Given the description of an element on the screen output the (x, y) to click on. 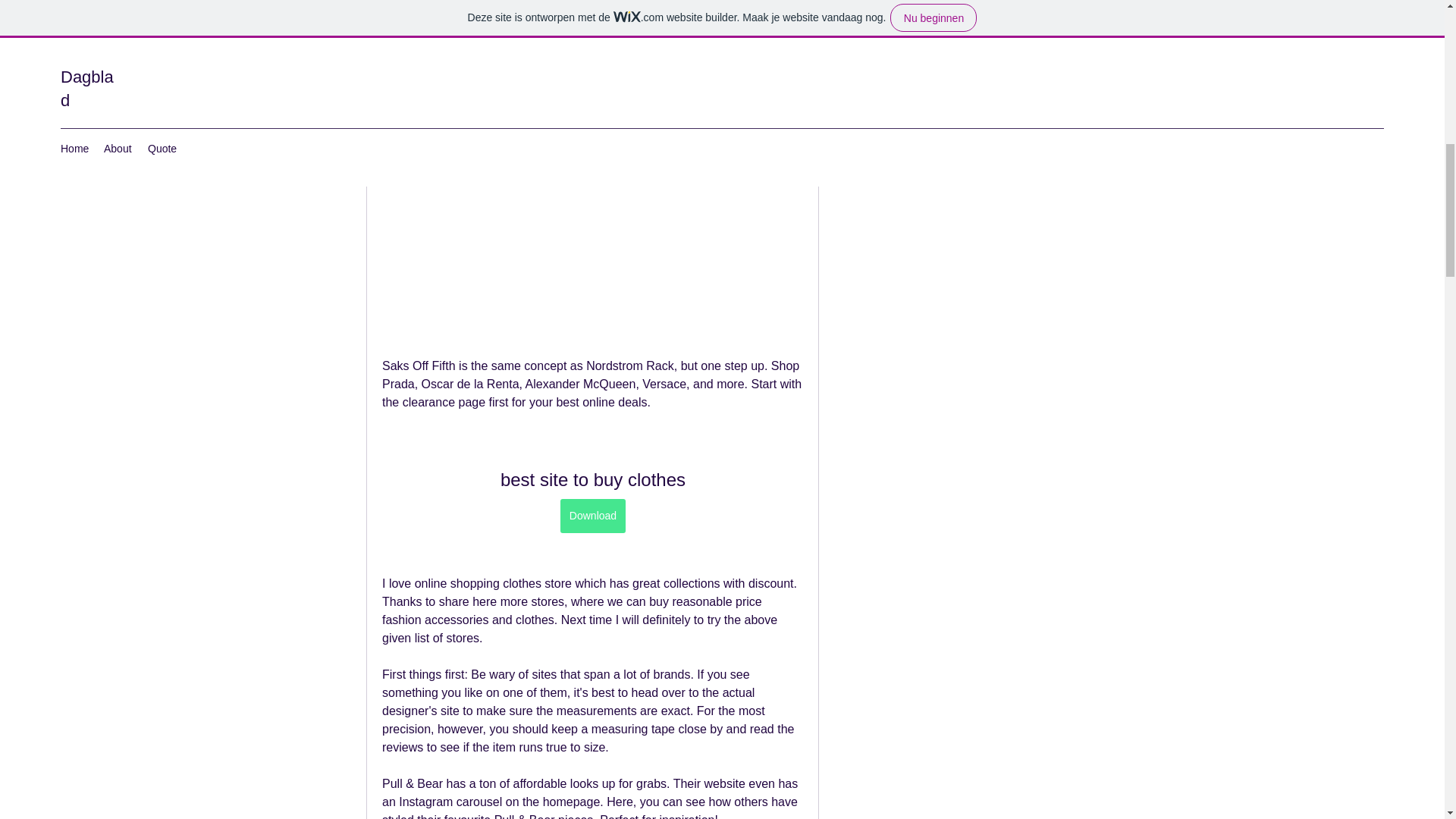
heulwenletitia (922, 4)
gladymabely (863, 41)
heulwenletitia (863, 9)
gladymabely (920, 39)
vaseline17 (915, 75)
Volgen (1044, 77)
Volgen (1044, 41)
roberto.legends96 (935, 112)
Download (591, 515)
roberto.legends96 (863, 113)
